Given the description of an element on the screen output the (x, y) to click on. 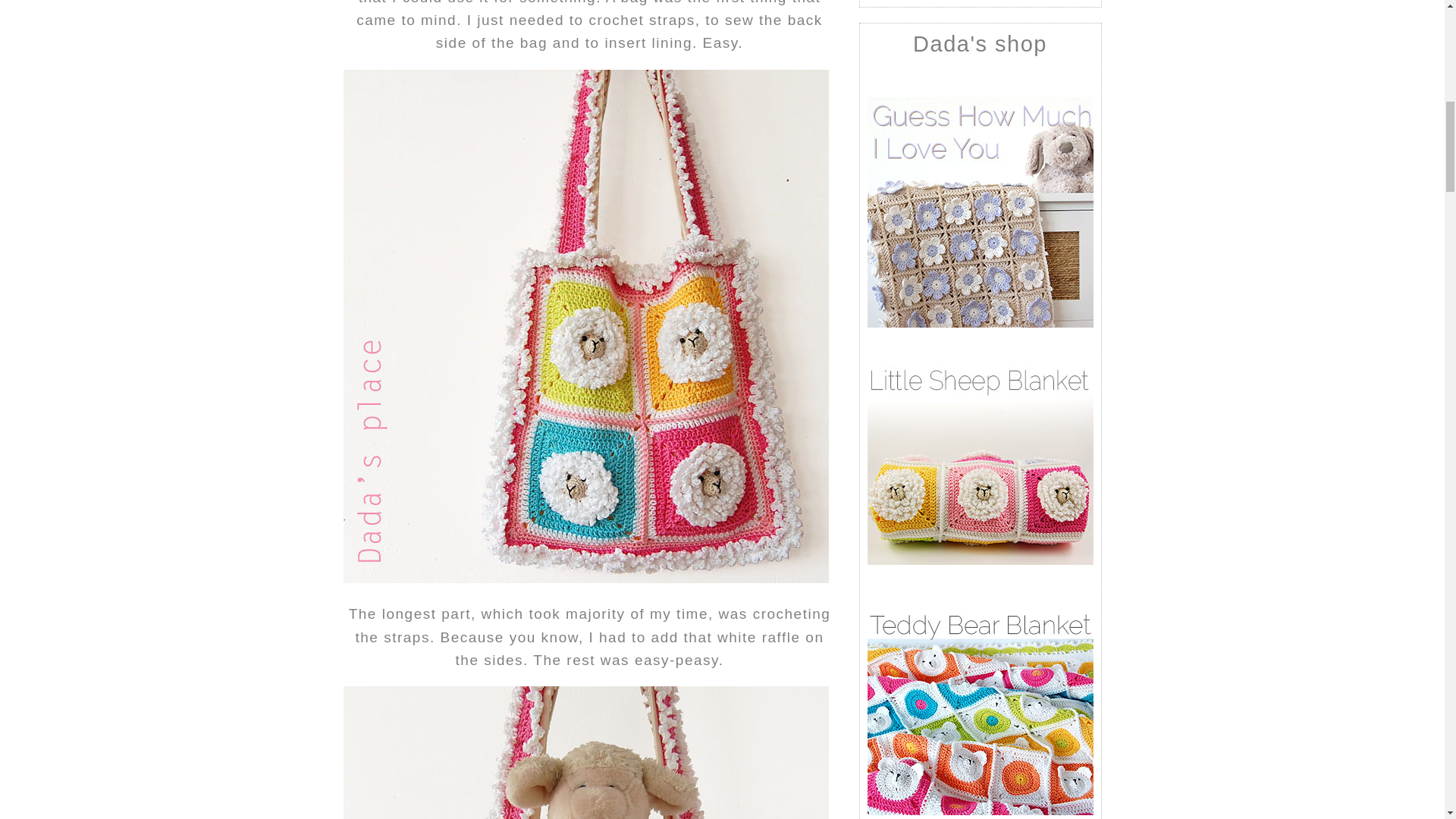
Unique Little Sheep Crochet Bag (585, 752)
